Given the description of an element on the screen output the (x, y) to click on. 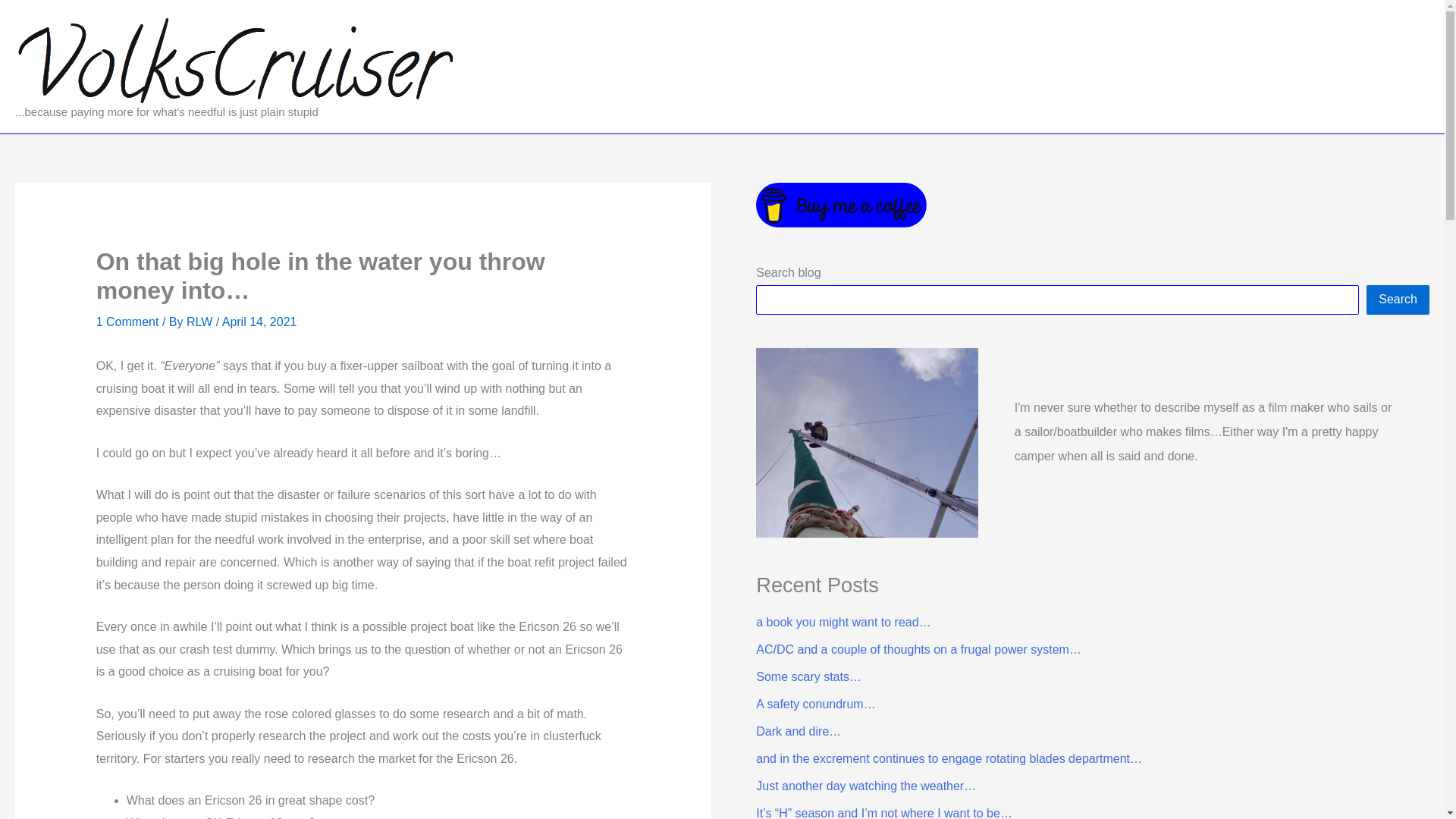
View all posts by RLW (200, 321)
RLW (200, 321)
1 Comment (127, 321)
Search (1398, 299)
